Given the description of an element on the screen output the (x, y) to click on. 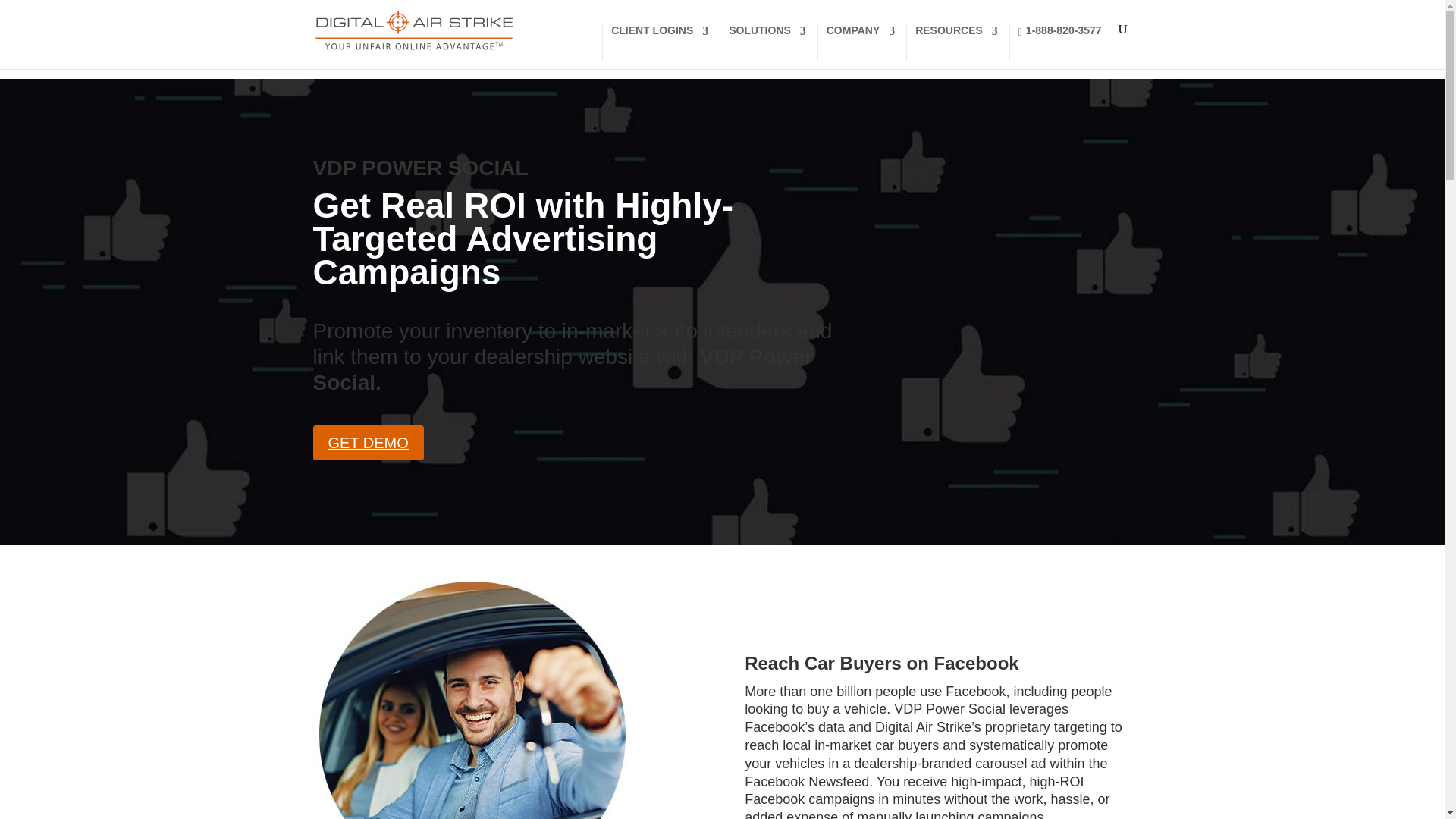
CLIENT LOGINS (659, 41)
SOLUTIONS (767, 41)
